Given the description of an element on the screen output the (x, y) to click on. 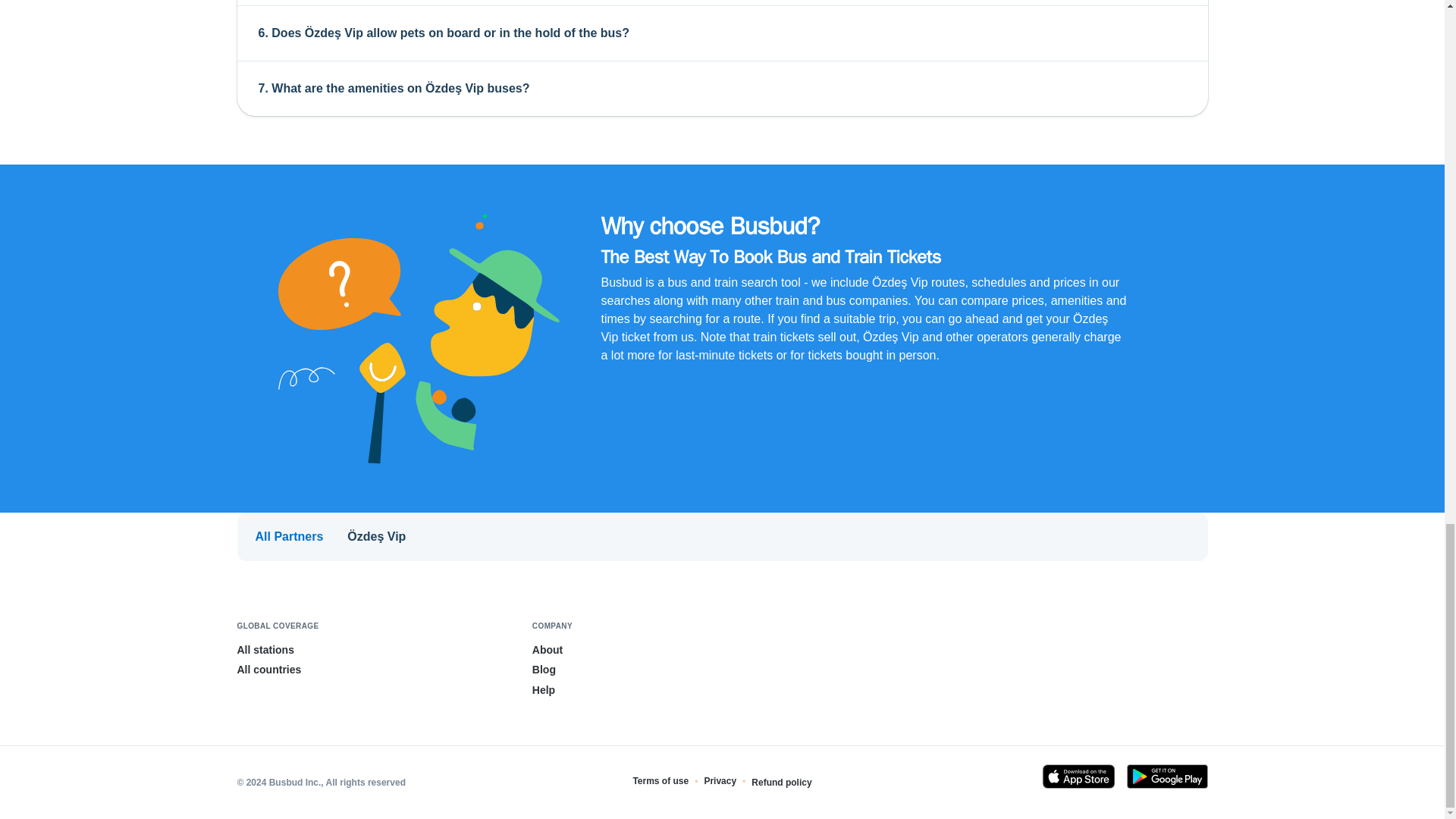
All stations (264, 649)
All countries (268, 669)
All Partners (288, 536)
